Given the description of an element on the screen output the (x, y) to click on. 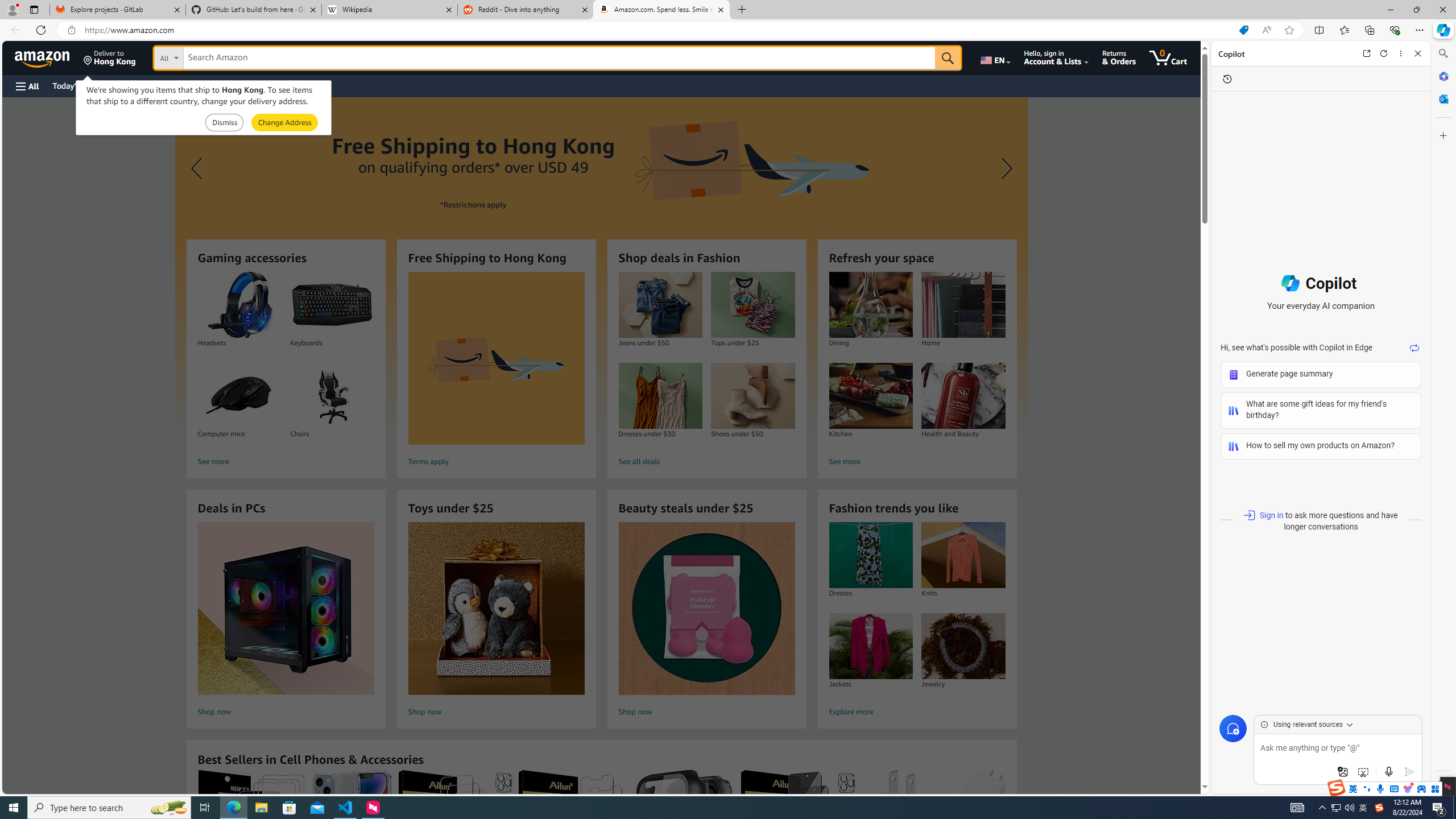
Free Shipping to Hong Kong Terms apply (495, 370)
Amazon (43, 57)
Health and Beauty (963, 395)
Headsets (239, 304)
Dresses (870, 555)
Tops under $25 (752, 304)
See all deals (706, 461)
Customer Service (145, 85)
Dresses under $30 (660, 395)
Submit (284, 122)
Explore more (917, 712)
